Given the description of an element on the screen output the (x, y) to click on. 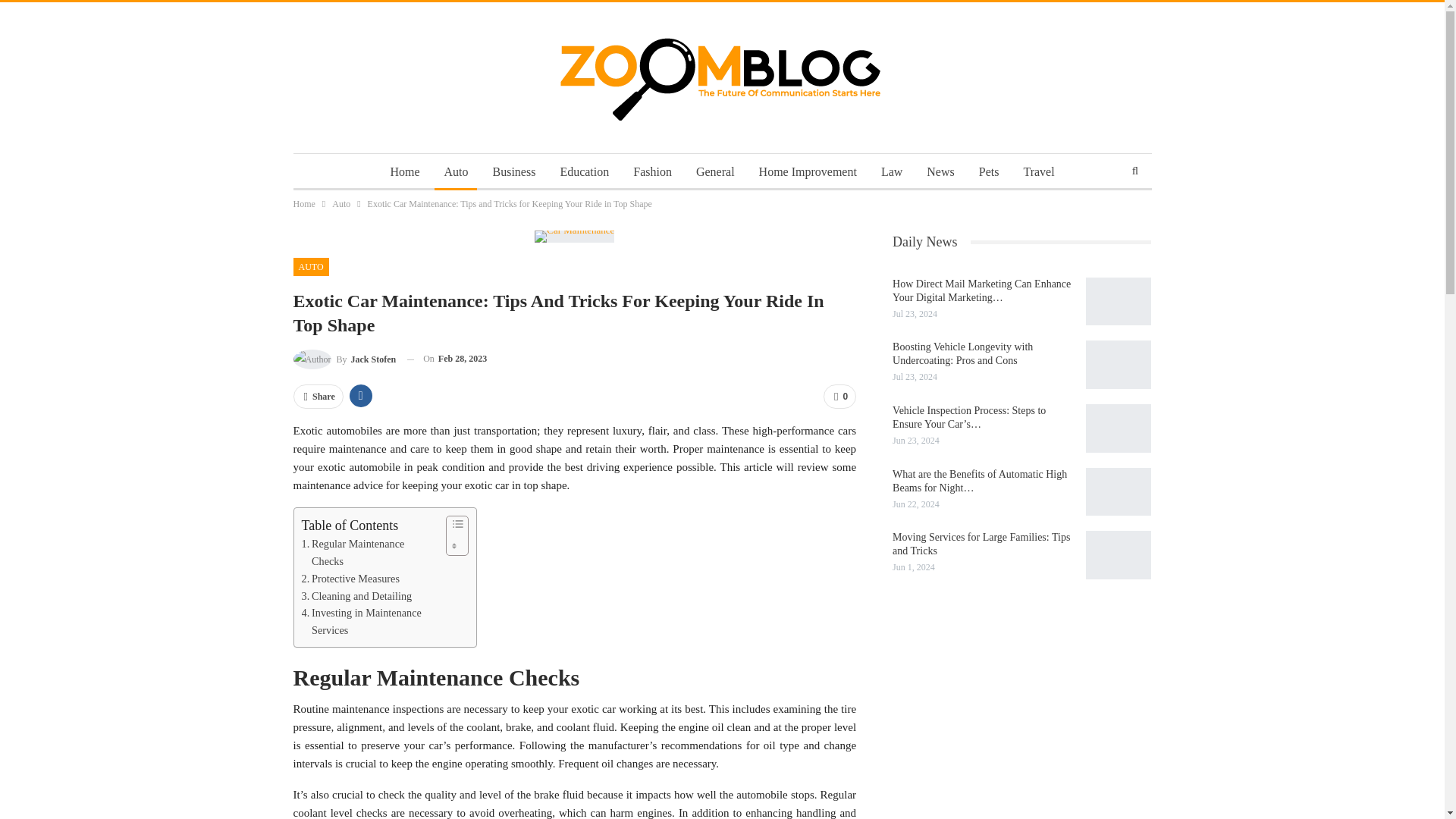
Browse Author Articles (344, 358)
Law (891, 171)
AUTO (310, 266)
0 (840, 396)
Auto (340, 203)
News (939, 171)
Pets (989, 171)
Fashion (652, 171)
Home (303, 203)
Regular Maintenance Checks (369, 552)
